Given the description of an element on the screen output the (x, y) to click on. 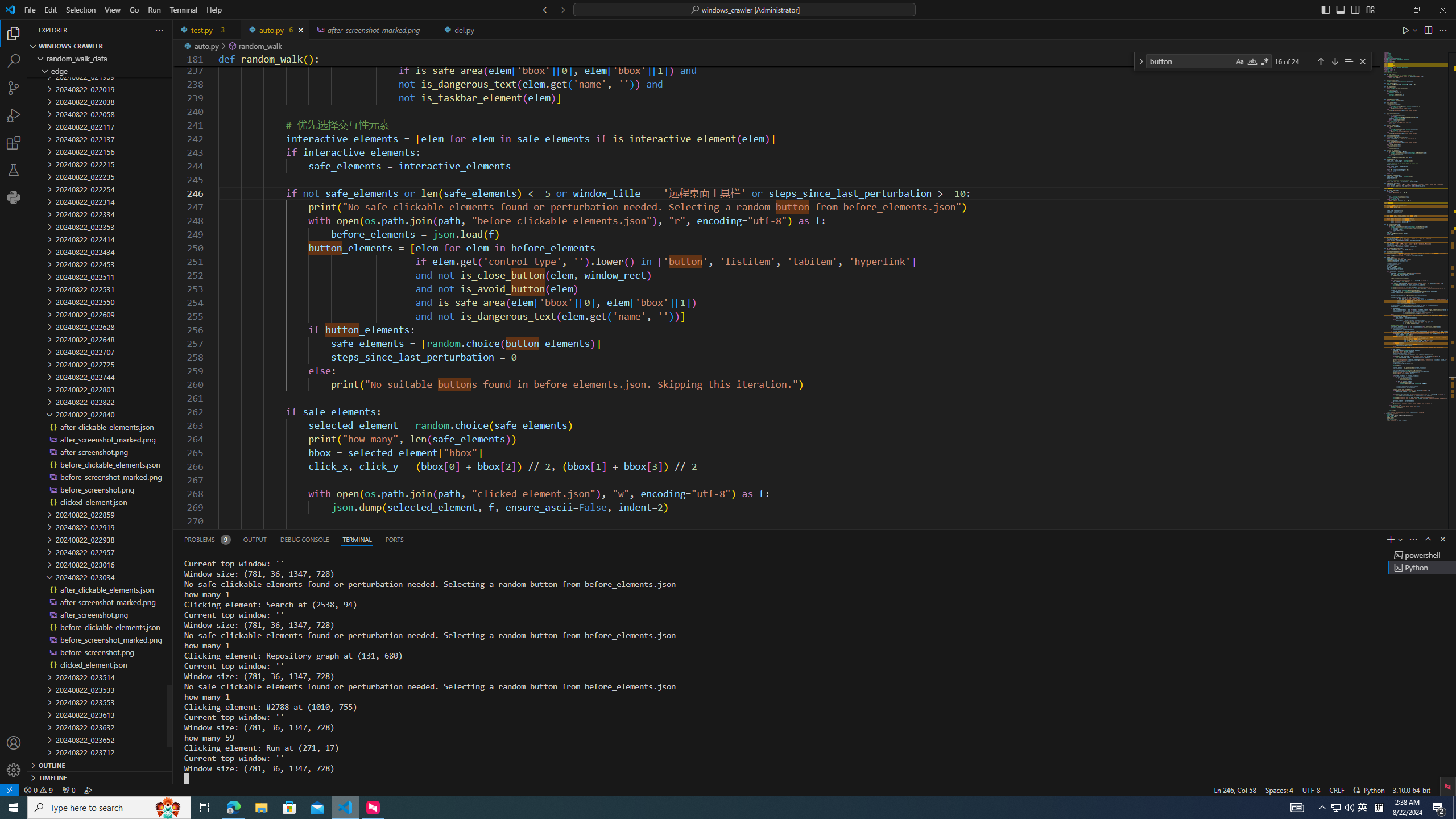
Testing (13, 169)
Spaces: 4 (1278, 789)
Terminal 5 Python (1422, 567)
Debug:  (88, 789)
Accounts (13, 742)
Find (1190, 60)
Split Editor Right (Ctrl+\) [Alt] Split Editor Down (1428, 29)
test.py (207, 29)
auto.py (274, 29)
Run Python File (1405, 29)
CRLF (1336, 789)
Match Case (Alt+C) (1239, 61)
